Given the description of an element on the screen output the (x, y) to click on. 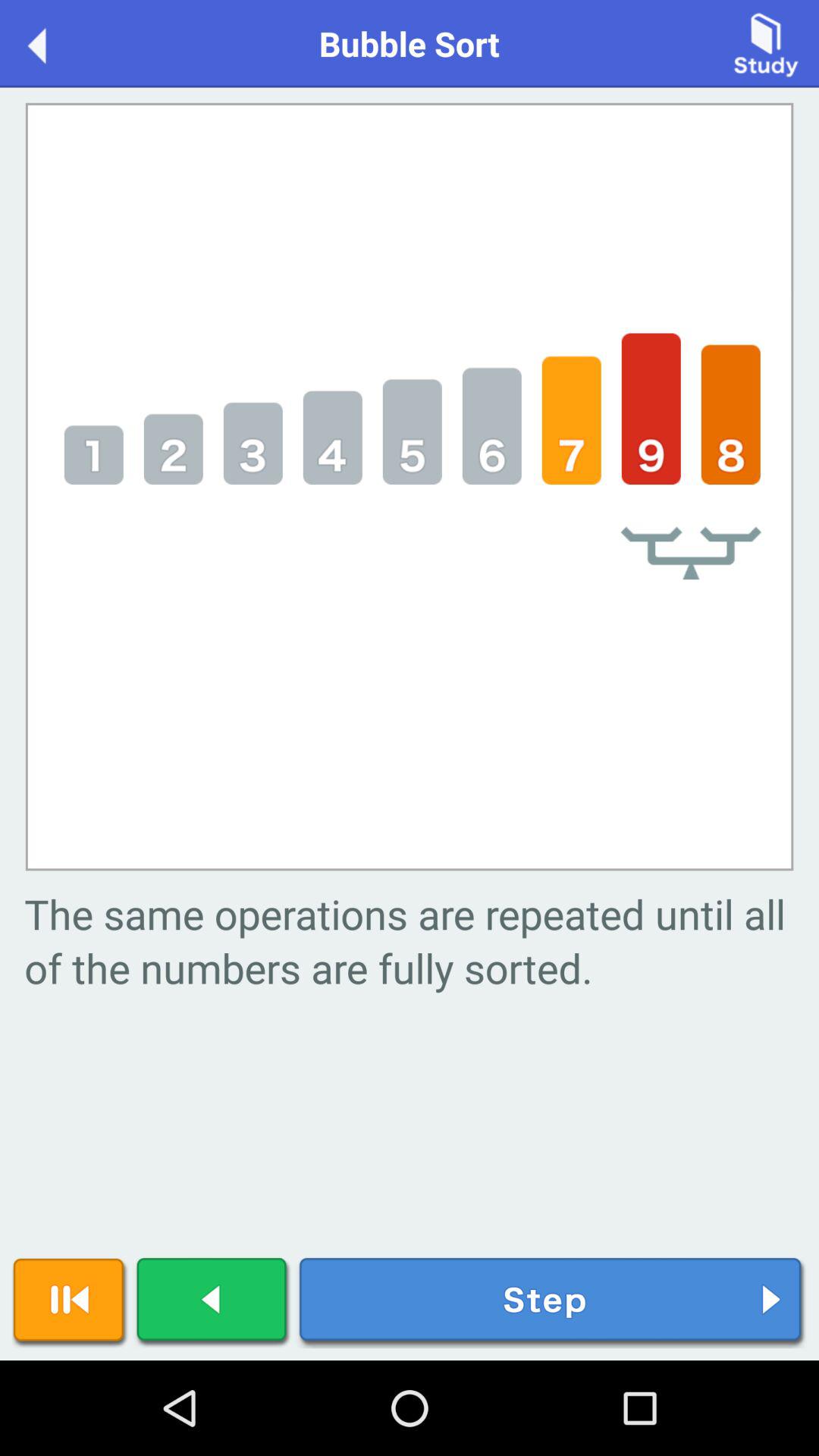
pause (70, 1303)
